Given the description of an element on the screen output the (x, y) to click on. 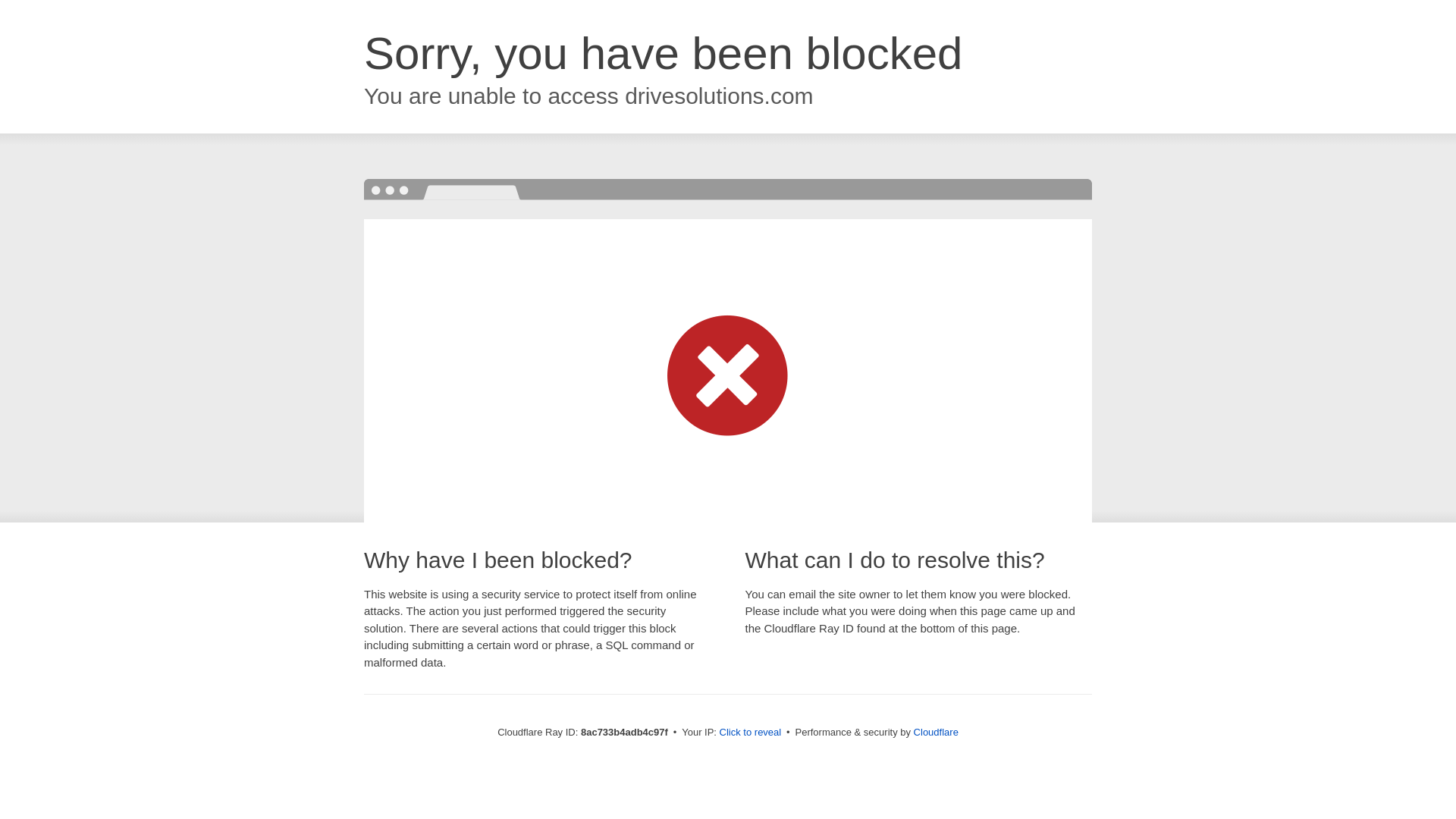
Click to reveal (750, 732)
Cloudflare (936, 731)
